Given the description of an element on the screen output the (x, y) to click on. 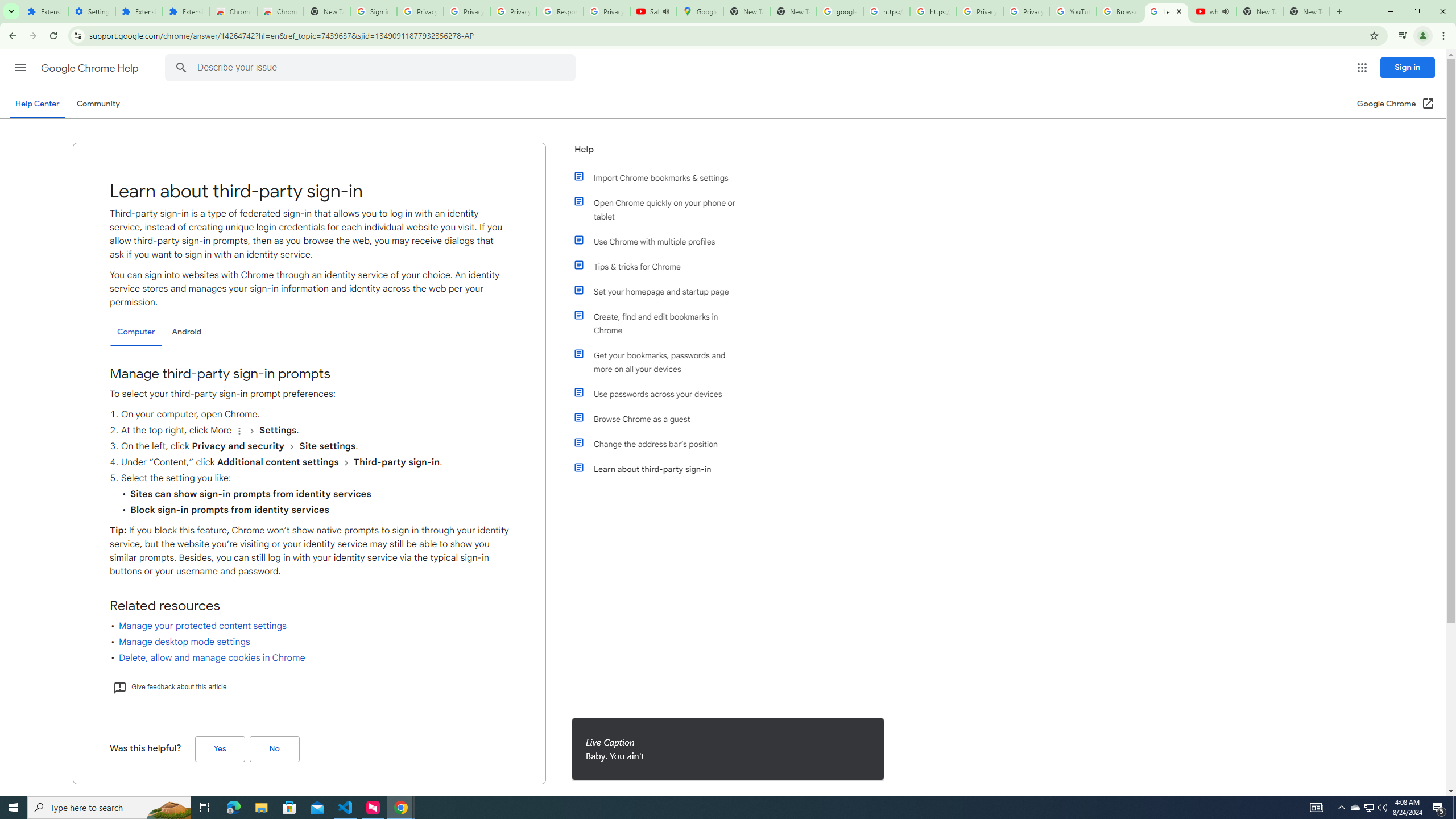
New Tab (1306, 11)
Google Chrome Help (90, 68)
Set your homepage and startup page (661, 291)
Manage your protected content settings (202, 626)
Create, find and edit bookmarks in Chrome (661, 323)
Main menu (20, 67)
Community (97, 103)
No (Was this helpful?) (273, 749)
Tips & tricks for Chrome (661, 266)
Browse Chrome as a guest - Computer - Google Chrome Help (1120, 11)
